Given the description of an element on the screen output the (x, y) to click on. 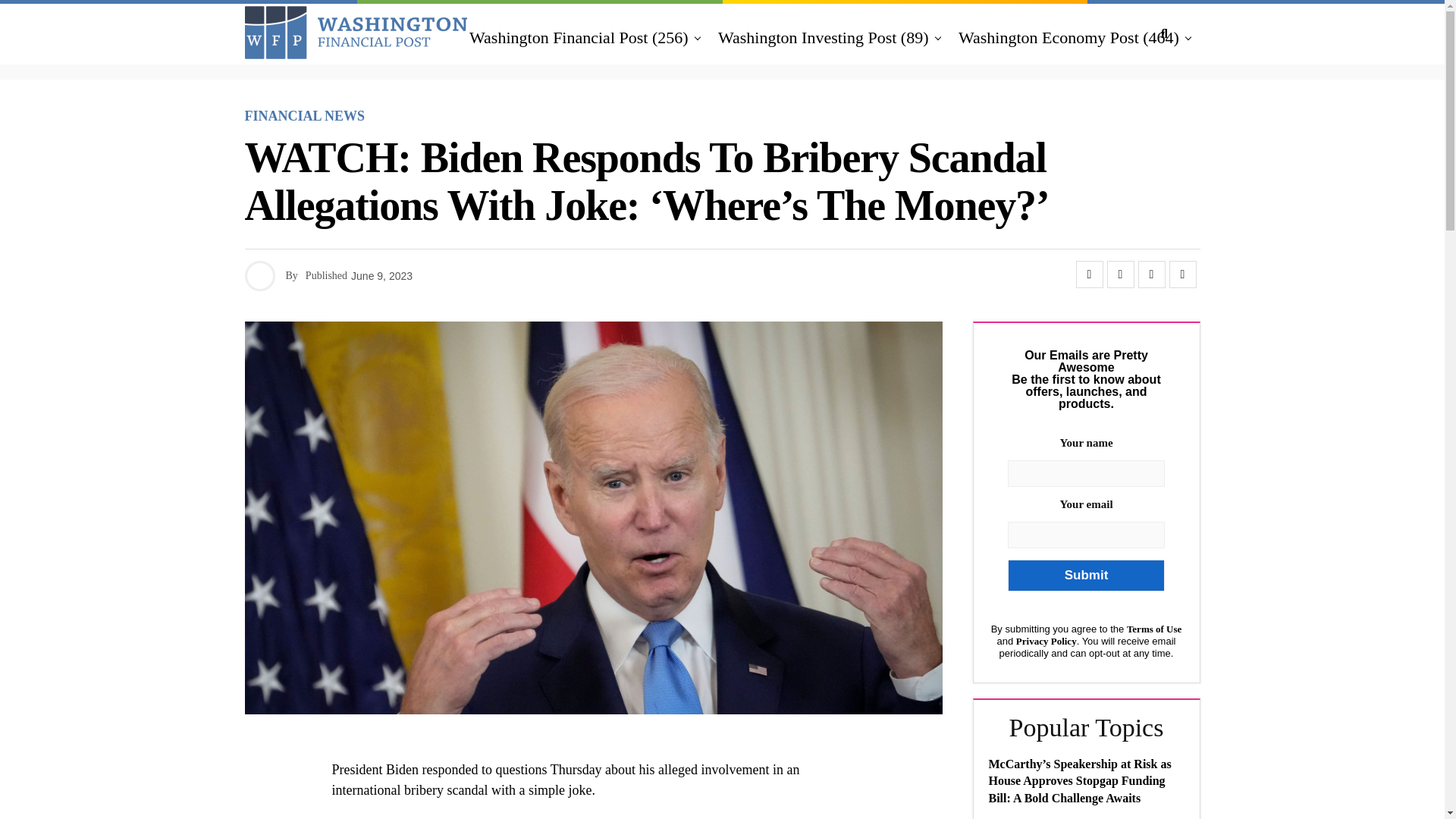
Submit (1085, 575)
Share on Facebook (1088, 274)
Privacy Policy (1046, 641)
Submit (1085, 575)
Tweet This Post (1120, 274)
FINANCIAL NEWS (304, 115)
Terms of Use (1153, 628)
